Given the description of an element on the screen output the (x, y) to click on. 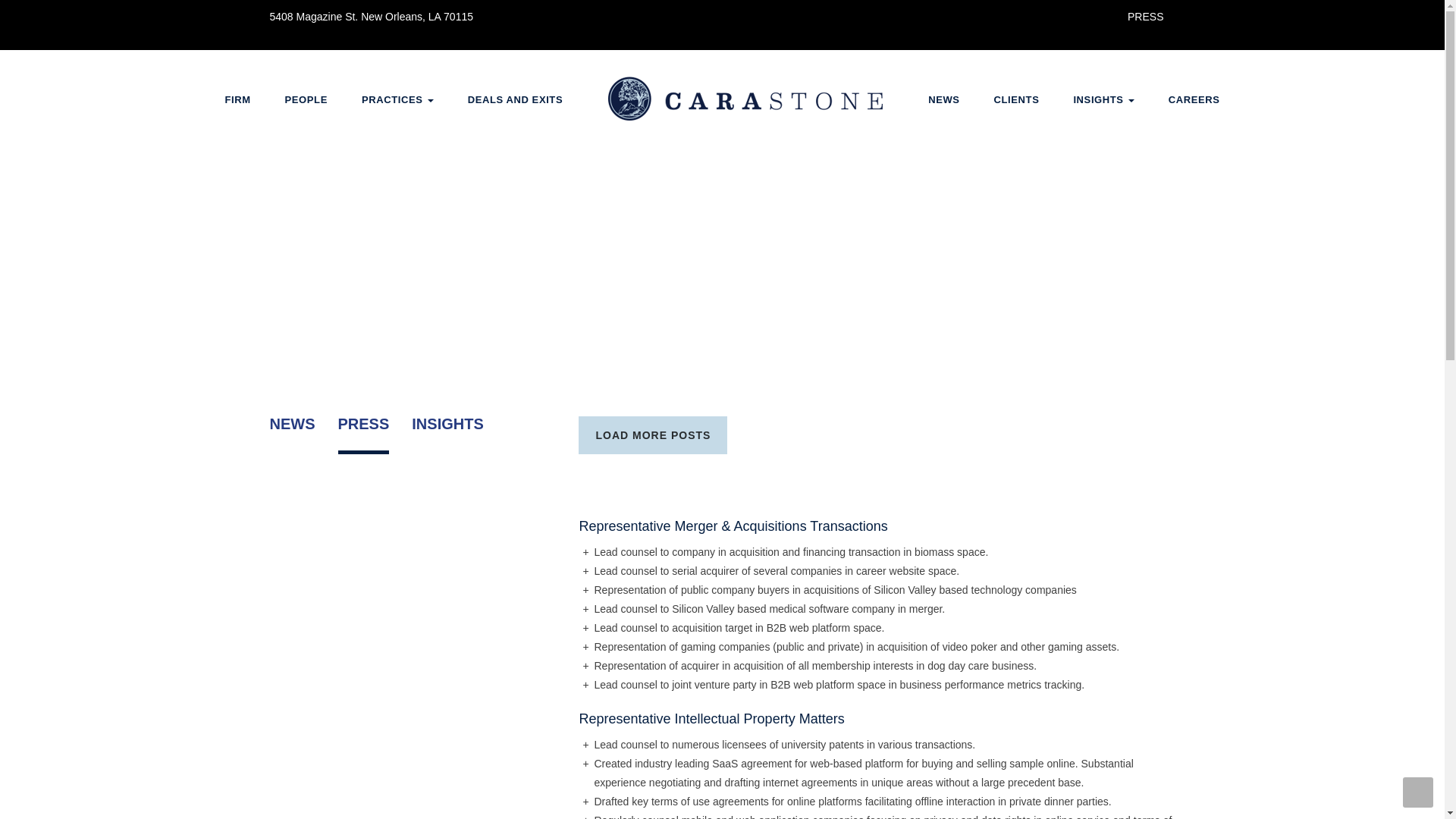
NEWS (292, 435)
Deals and Exits (515, 99)
INSIGHTS (447, 435)
DEALS AND EXITS (515, 99)
PRESS (1145, 16)
PRESS (363, 435)
HOME (745, 99)
Home (745, 99)
Press (1145, 16)
LOAD MORE POSTS (652, 435)
